Given the description of an element on the screen output the (x, y) to click on. 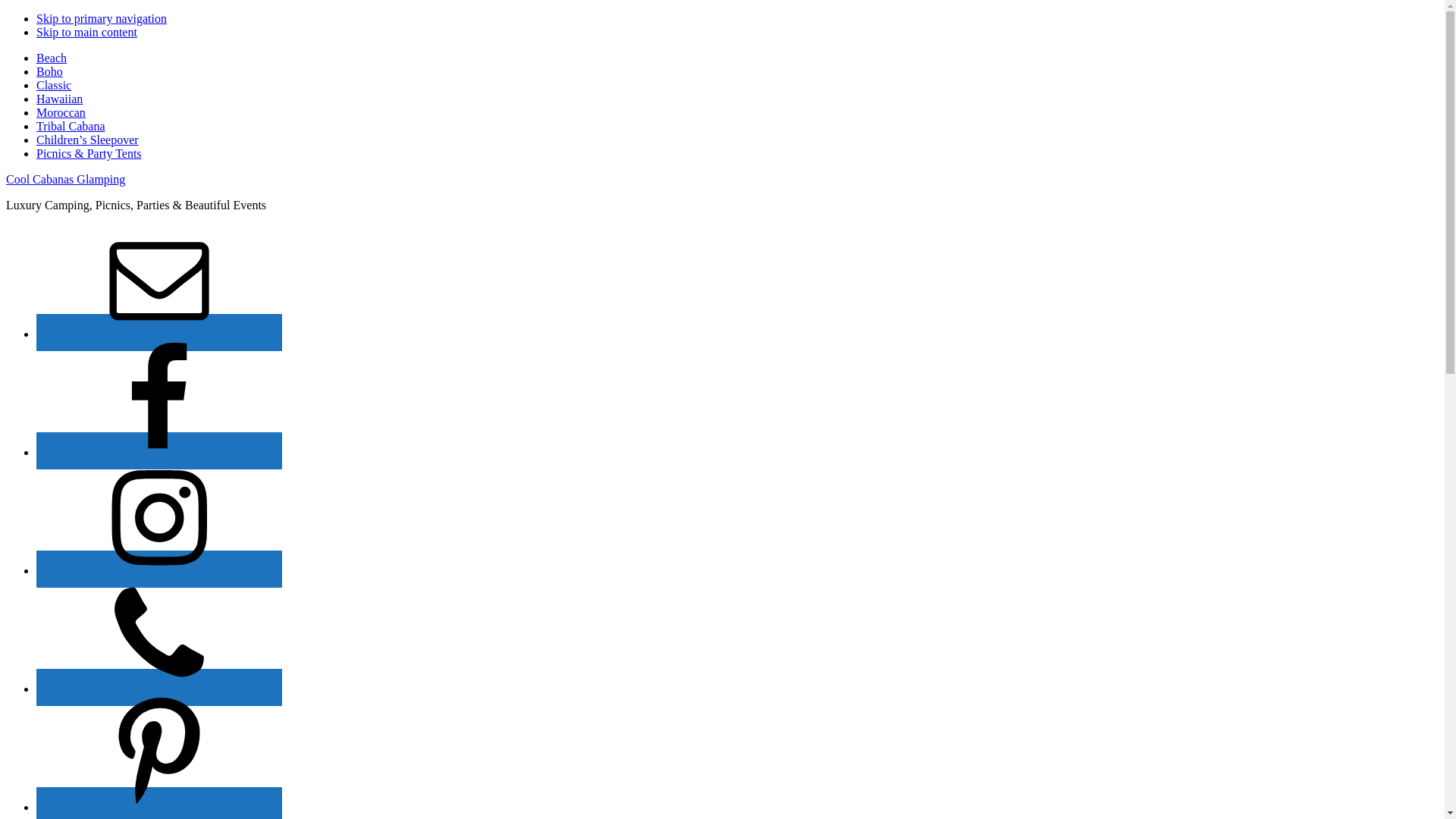
Classic Element type: text (53, 84)
Cool Cabanas Glamping Element type: text (65, 178)
Phone Element type: text (159, 687)
Skip to main content Element type: text (86, 31)
Facebook Element type: text (159, 450)
Beach Element type: text (51, 57)
Boho Element type: text (49, 71)
Skip to primary navigation Element type: text (101, 18)
Hawaiian Element type: text (59, 98)
Email Element type: text (159, 332)
Tribal Cabana Element type: text (70, 125)
Picnics & Party Tents Element type: text (88, 153)
Moroccan Element type: text (60, 112)
Instagram Element type: text (159, 568)
